Given the description of an element on the screen output the (x, y) to click on. 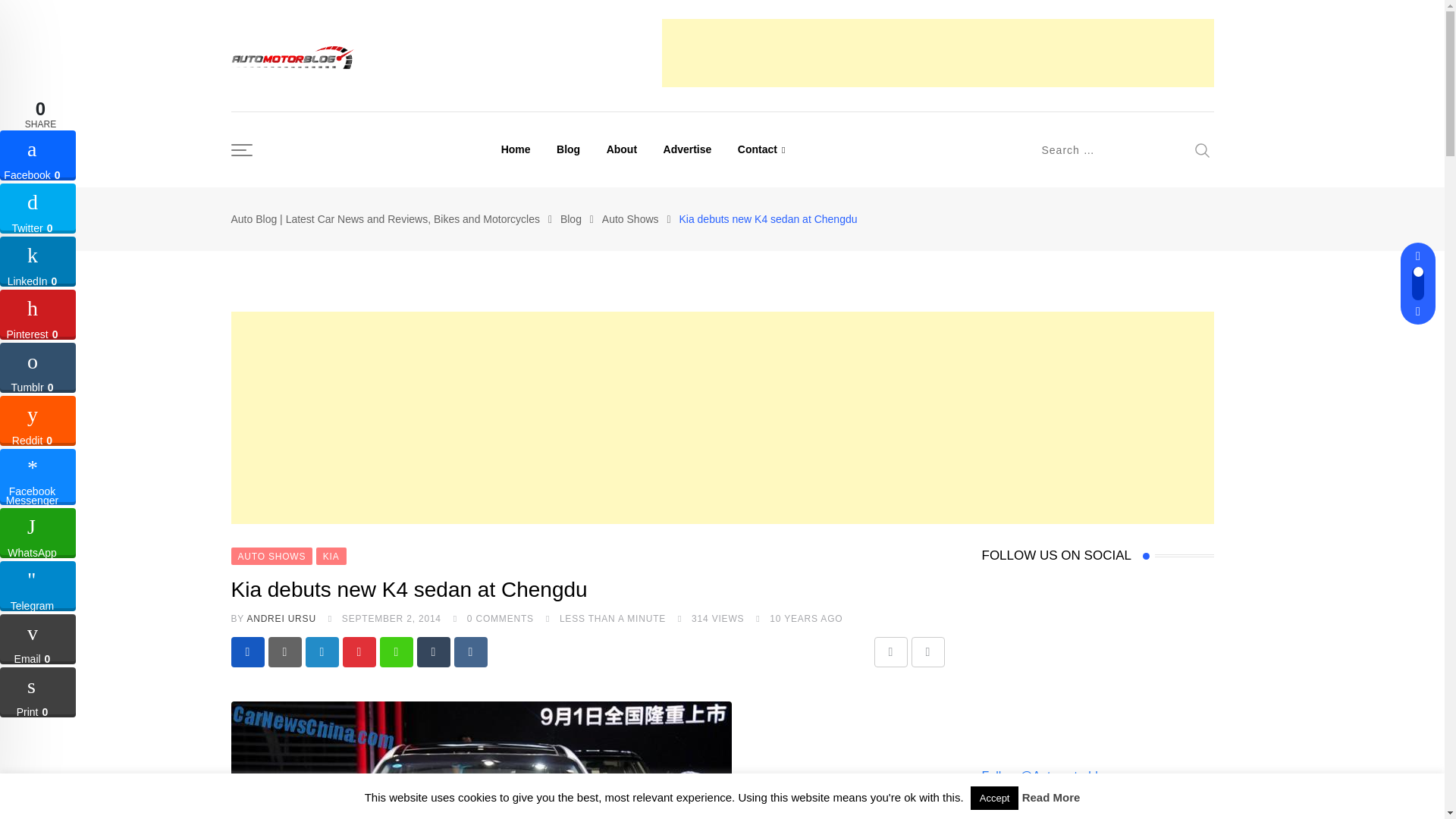
Go to the Auto Shows Category archives. (630, 218)
Advertise (687, 149)
Contact (761, 149)
on (986, 512)
Sign Up Now (1027, 551)
Go to Blog. (570, 218)
Posts by Andrei Ursu (280, 618)
Advertisement (936, 52)
